Given the description of an element on the screen output the (x, y) to click on. 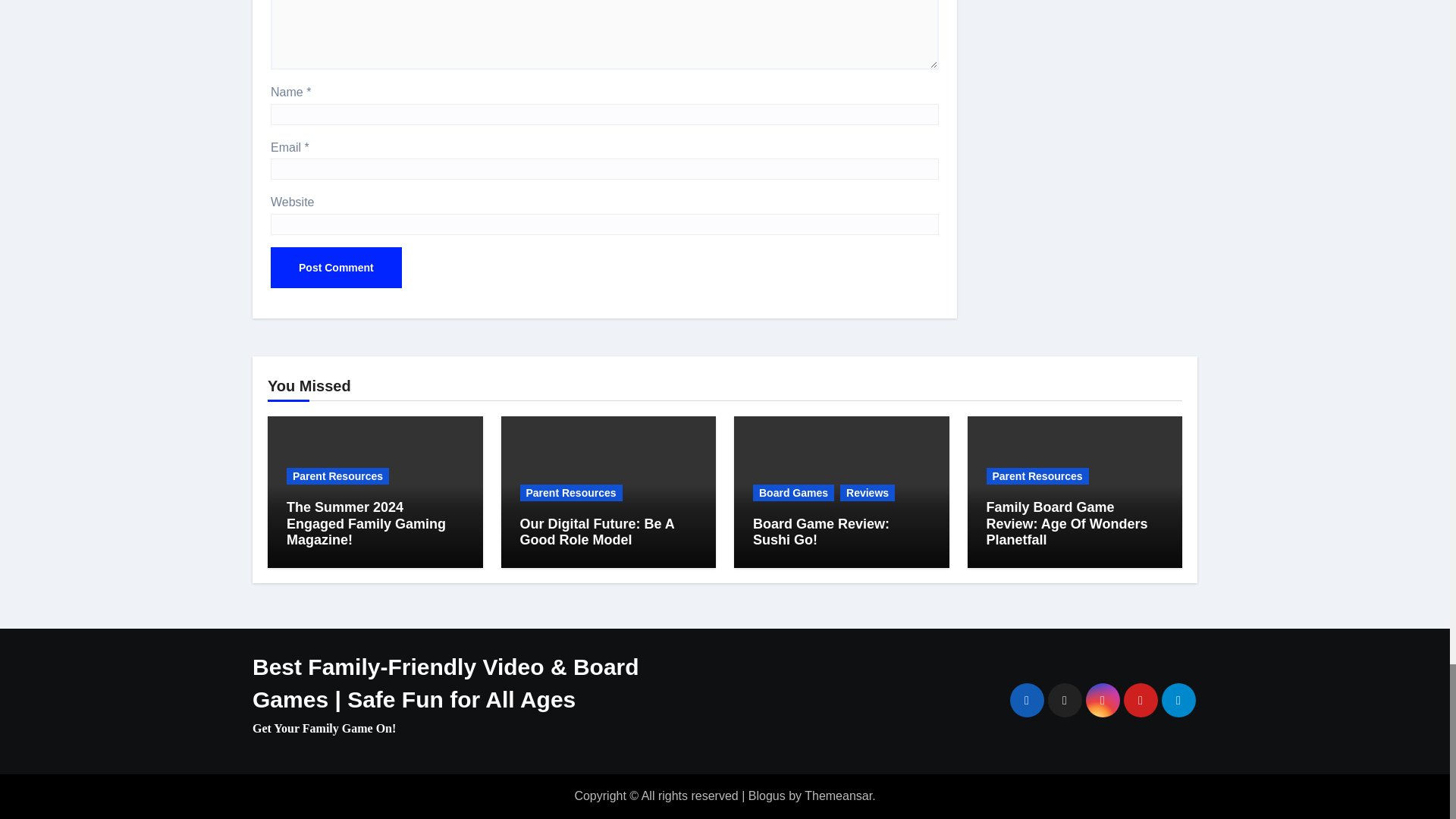
Permalink to: Board Game Review: Sushi Go! (820, 531)
Permalink to: Our Digital Future: Be A Good Role Model (597, 531)
Post Comment (335, 267)
